Given the description of an element on the screen output the (x, y) to click on. 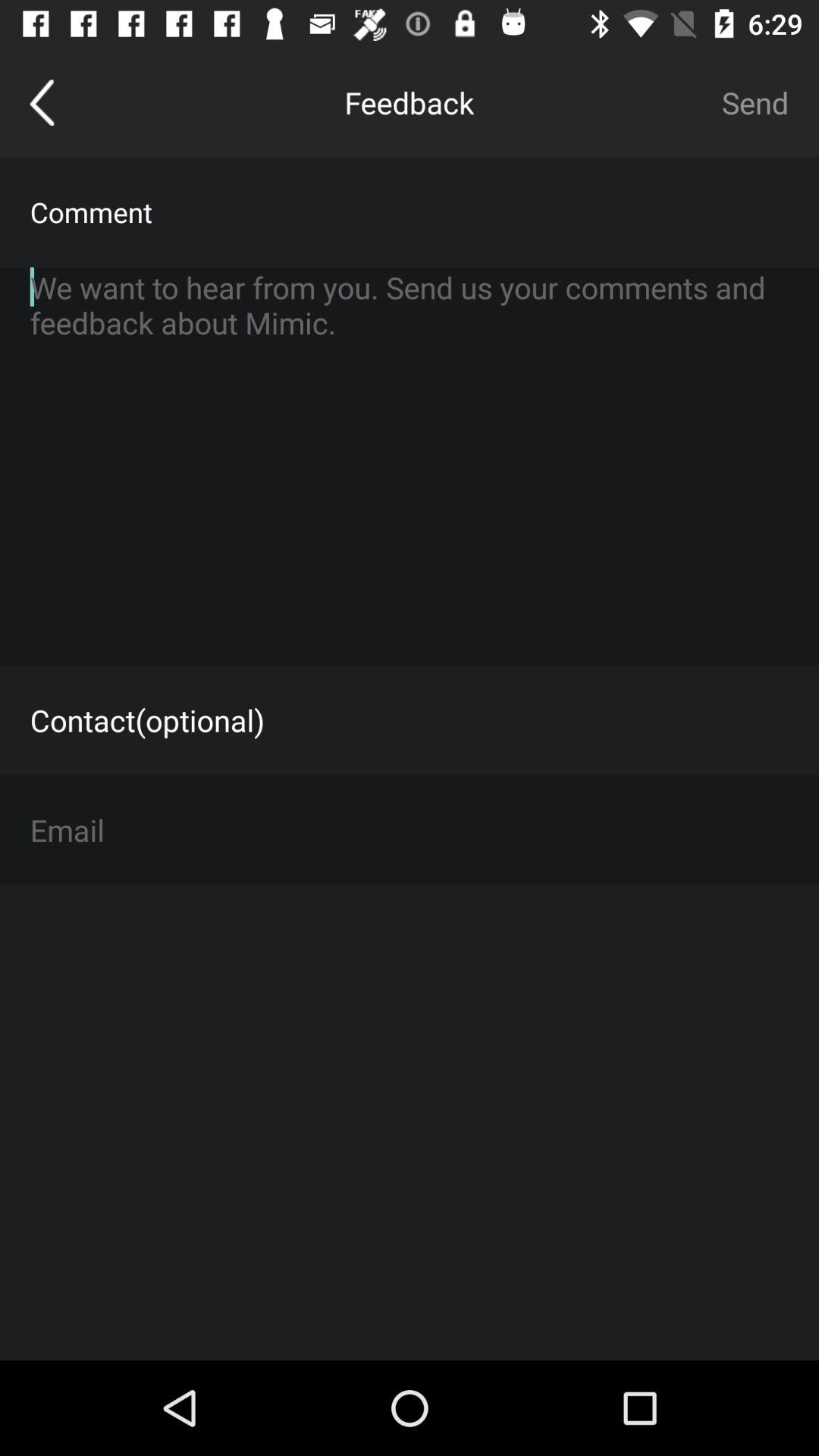
tap the send at the top right corner (755, 102)
